Given the description of an element on the screen output the (x, y) to click on. 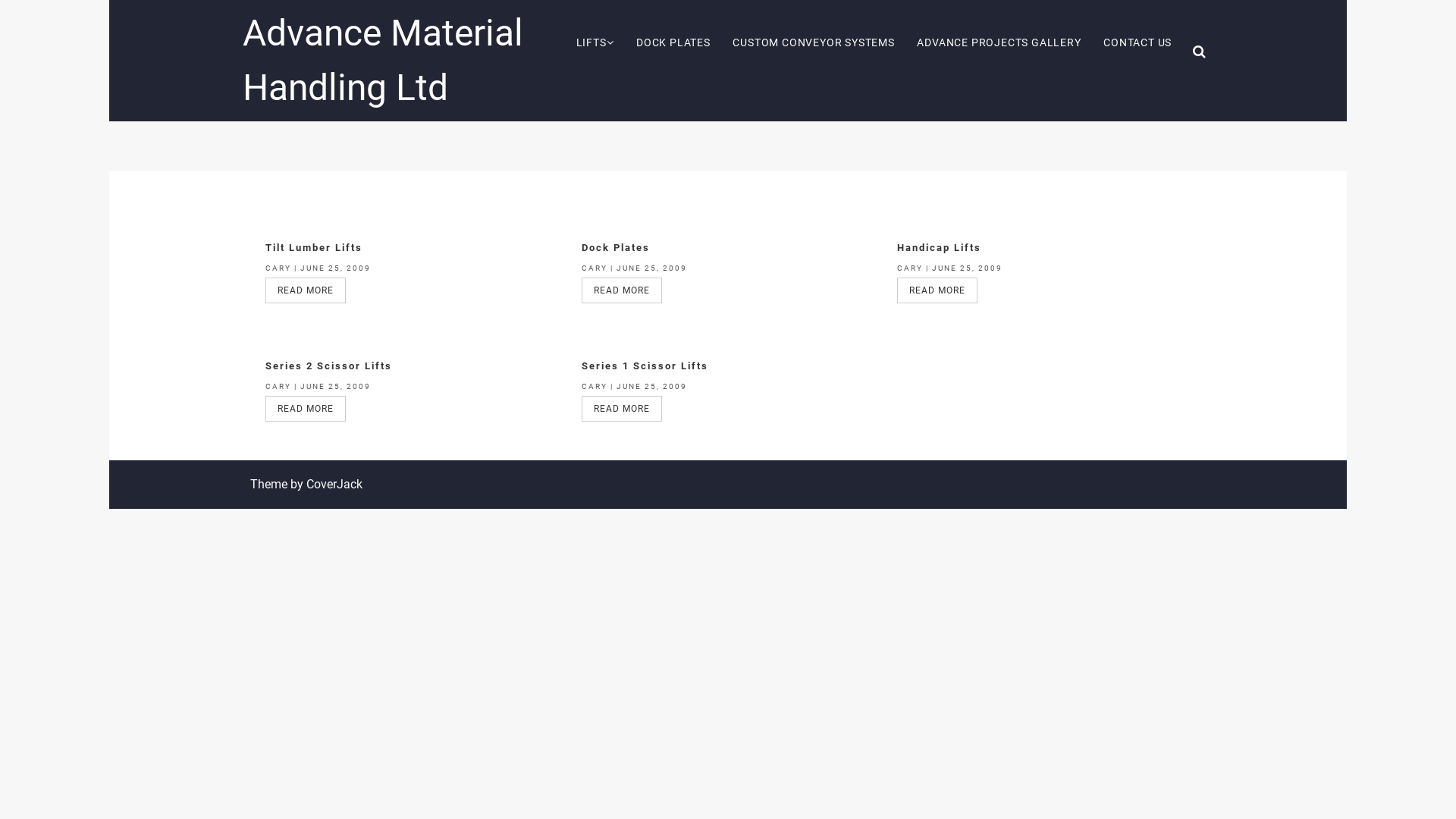
DOCK PLATES Element type: text (672, 41)
Dock Plates Element type: text (615, 247)
Tilt Lumber Lifts Element type: text (313, 247)
Advance Material Handling Ltd Element type: text (382, 60)
Search Element type: text (864, 422)
Theme by CoverJack Element type: text (306, 483)
READ MORE Element type: text (305, 290)
CUSTOM CONVEYOR SYSTEMS Element type: text (813, 41)
Series 1 Scissor Lifts Element type: text (644, 365)
READ MORE Element type: text (937, 290)
CONTACT US Element type: text (1137, 41)
LIFTS Element type: text (594, 41)
READ MORE Element type: text (305, 408)
READ MORE Element type: text (621, 408)
READ MORE Element type: text (621, 290)
ADVANCE PROJECTS GALLERY Element type: text (999, 41)
Series 2 Scissor Lifts Element type: text (328, 365)
Handicap Lifts Element type: text (939, 247)
